Given the description of an element on the screen output the (x, y) to click on. 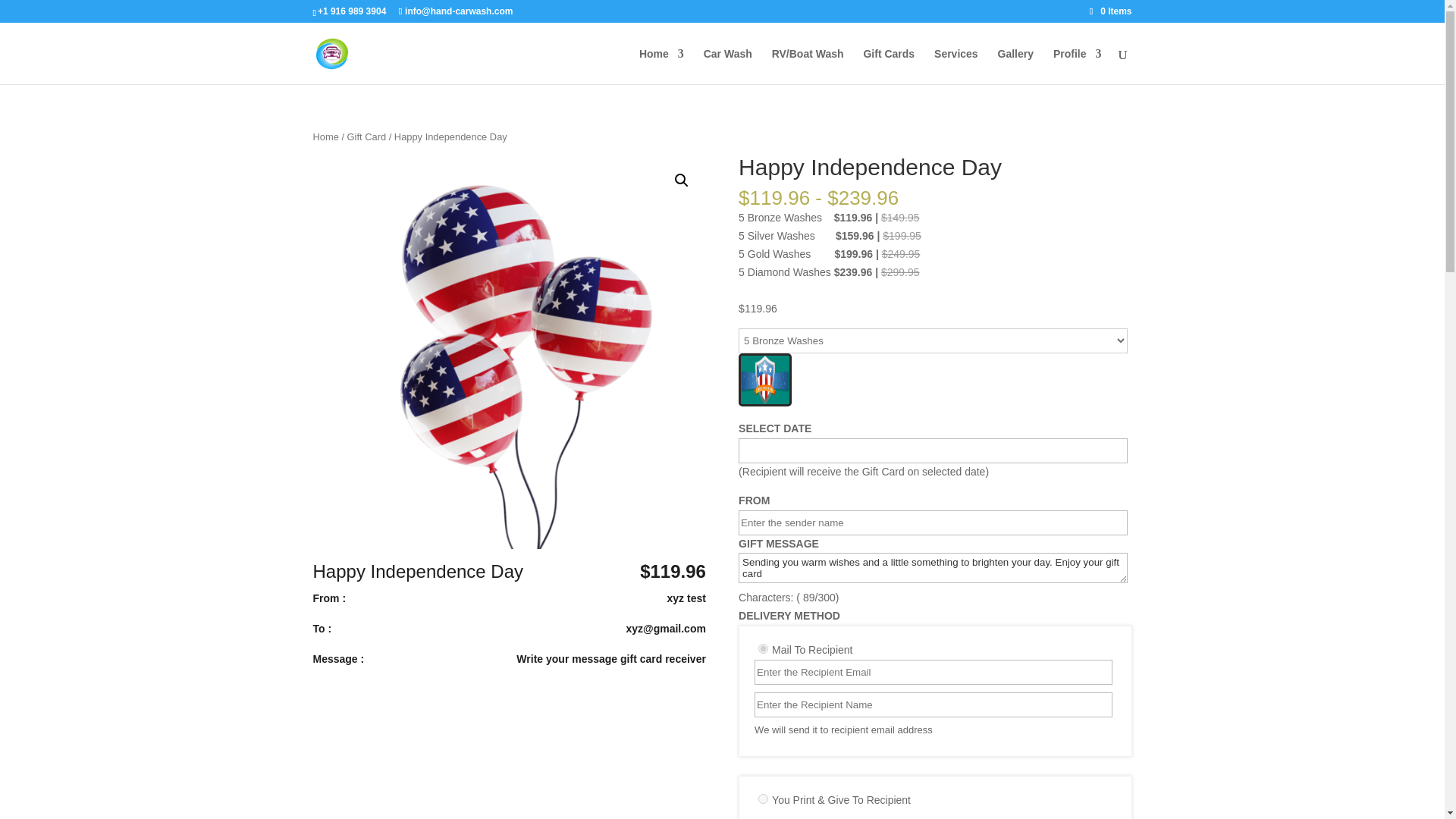
Downloadable (763, 798)
Gallery (1015, 66)
Home (661, 66)
Mail to recipient (763, 648)
0 Items (1110, 10)
Car Wash (727, 66)
Gift Card (367, 136)
Home (325, 136)
Profile (1077, 66)
Gift Cards (888, 66)
Services (956, 66)
